Given the description of an element on the screen output the (x, y) to click on. 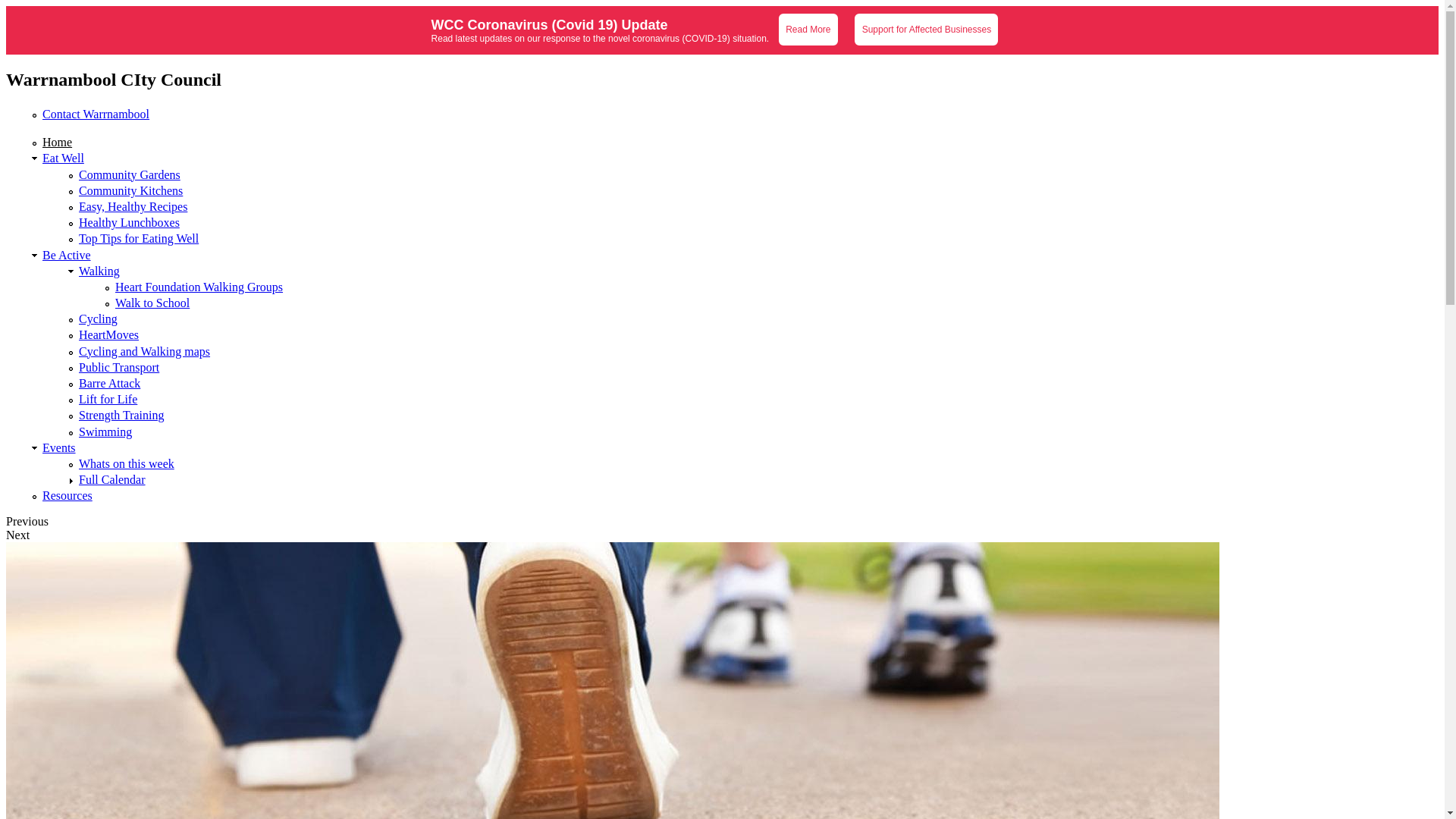
Cycling and Walking maps Element type: text (144, 351)
Cycling Element type: text (97, 318)
Be Active Element type: text (66, 254)
Resources Element type: text (67, 495)
Eat Well Element type: text (63, 157)
Community Gardens Element type: text (129, 174)
Lift for Life Element type: text (107, 398)
Top Tips for Eating Well Element type: text (138, 238)
Contact Warrnambool Element type: text (95, 113)
Whats on this week Element type: text (126, 463)
Community Kitchens Element type: text (130, 190)
Events Element type: text (58, 447)
HeartMoves Element type: text (108, 334)
Heart Foundation Walking Groups Element type: text (198, 286)
Public Transport Element type: text (118, 366)
Walk to School Element type: text (152, 302)
Home Element type: text (57, 141)
Full Calendar Element type: text (111, 479)
Healthy Lunchboxes Element type: text (128, 222)
Walking Element type: text (98, 270)
Easy, Healthy Recipes Element type: text (132, 206)
Swimming Element type: text (104, 431)
Strength Training Element type: text (120, 414)
Barre Attack Element type: text (109, 382)
